Given the description of an element on the screen output the (x, y) to click on. 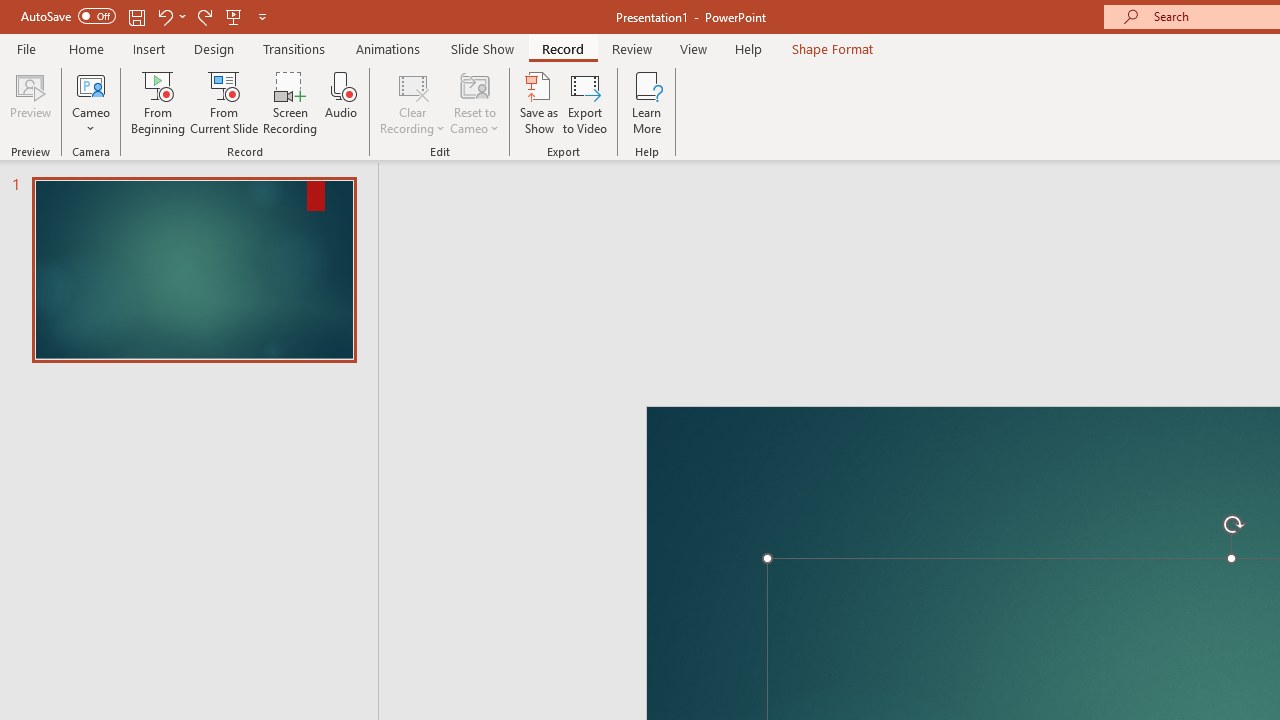
File Tab (26, 48)
Help (748, 48)
Save (136, 15)
Clear Recording (412, 102)
Animations (388, 48)
